Given the description of an element on the screen output the (x, y) to click on. 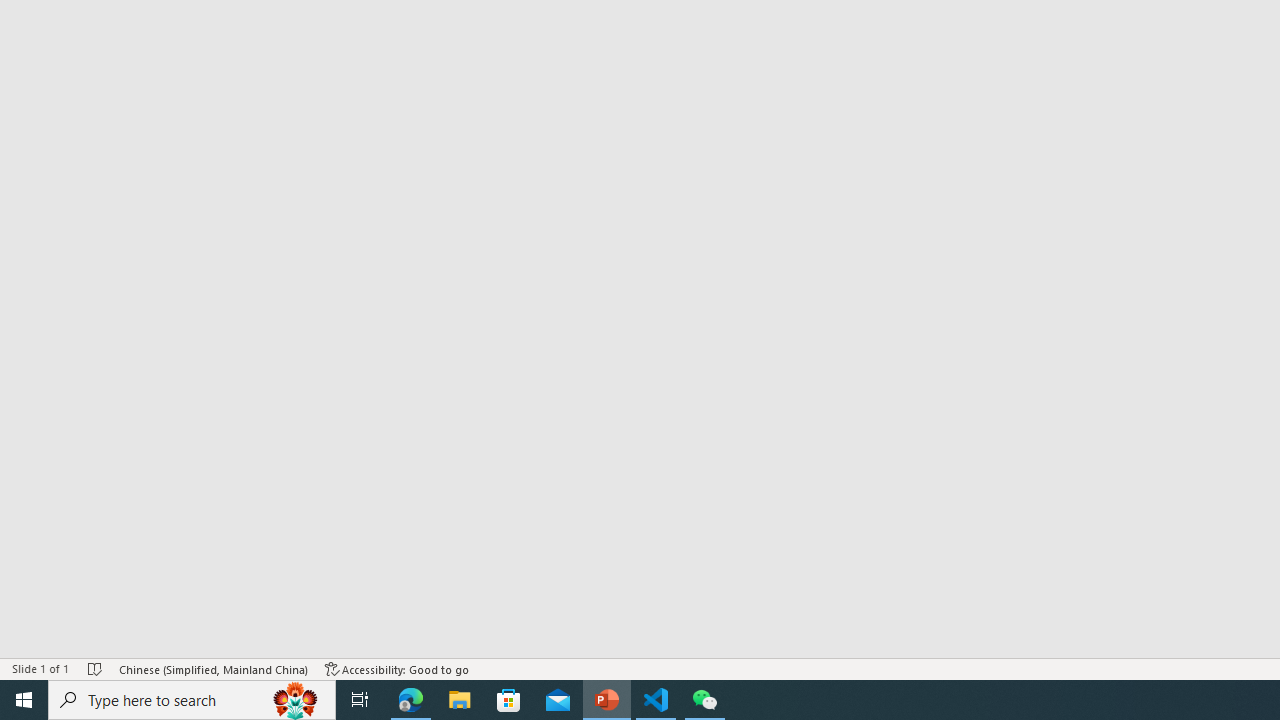
Spell Check No Errors (95, 668)
Accessibility Checker Accessibility: Good to go (397, 668)
